Given the description of an element on the screen output the (x, y) to click on. 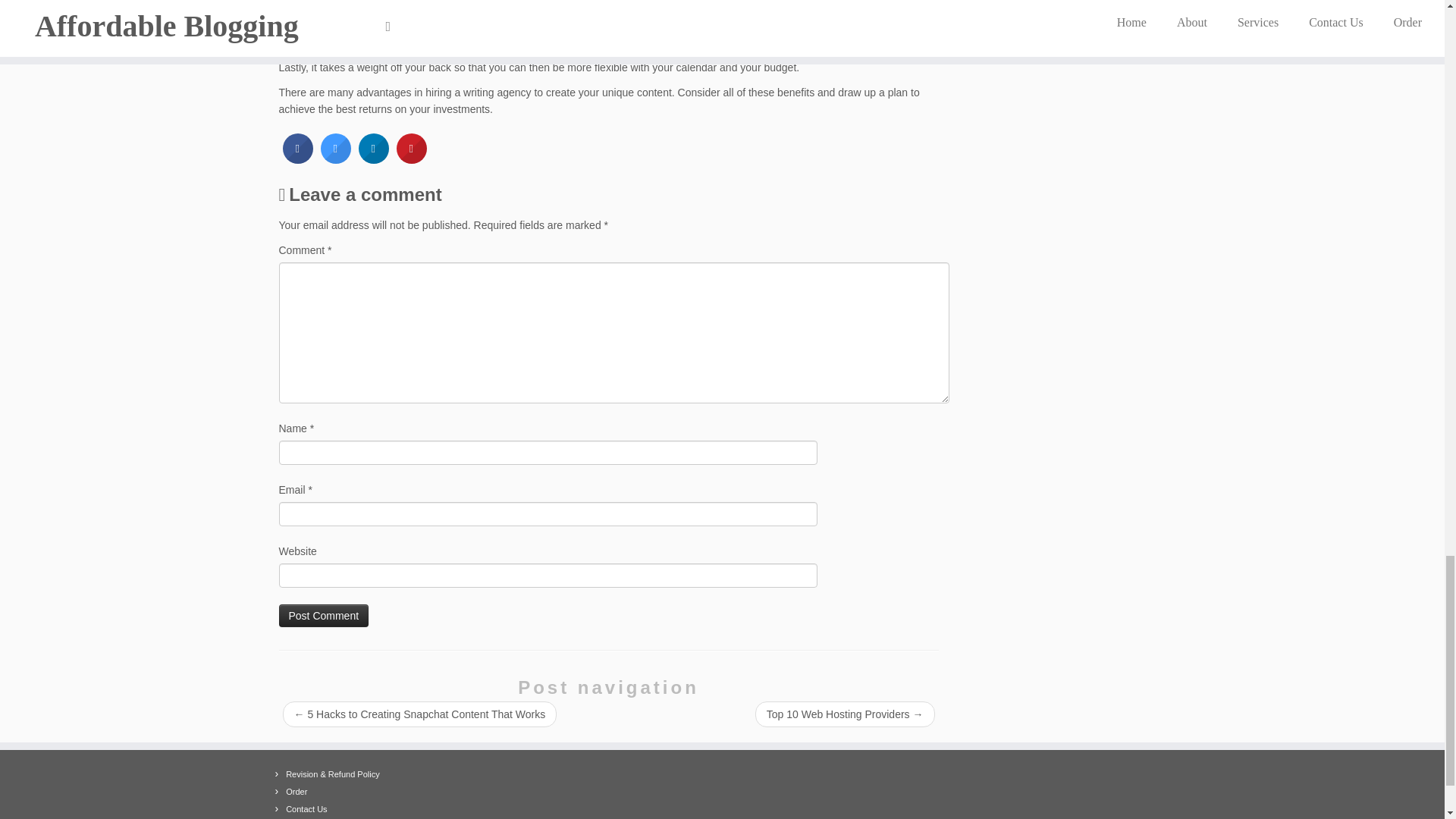
Contact Us (305, 809)
Share on Facebook (297, 159)
Post Comment (324, 615)
Order (296, 791)
Share on Twitter (335, 159)
Post Comment (324, 615)
Share to LinkedIn (373, 159)
Share on Pinterest (411, 159)
